Given the description of an element on the screen output the (x, y) to click on. 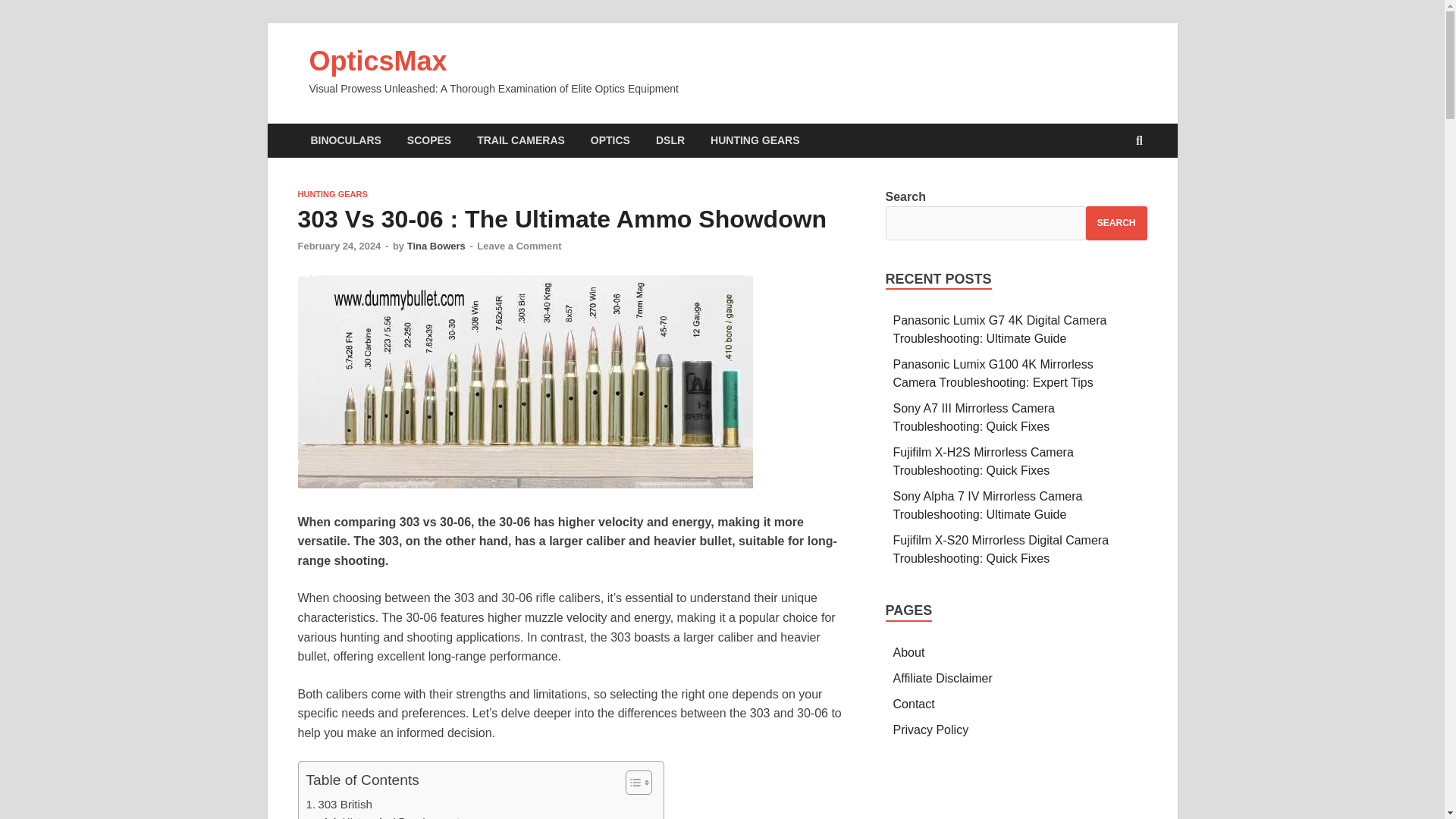
Leave a Comment (518, 245)
History And Development (391, 816)
Tina Bowers (436, 245)
DSLR (670, 140)
HUNTING GEARS (754, 140)
303 British (338, 803)
TRAIL CAMERAS (521, 140)
303 British (338, 803)
OPTICS (610, 140)
BINOCULARS (345, 140)
HUNTING GEARS (331, 194)
SCOPES (429, 140)
History And Development (391, 816)
February 24, 2024 (338, 245)
OpticsMax (377, 60)
